Given the description of an element on the screen output the (x, y) to click on. 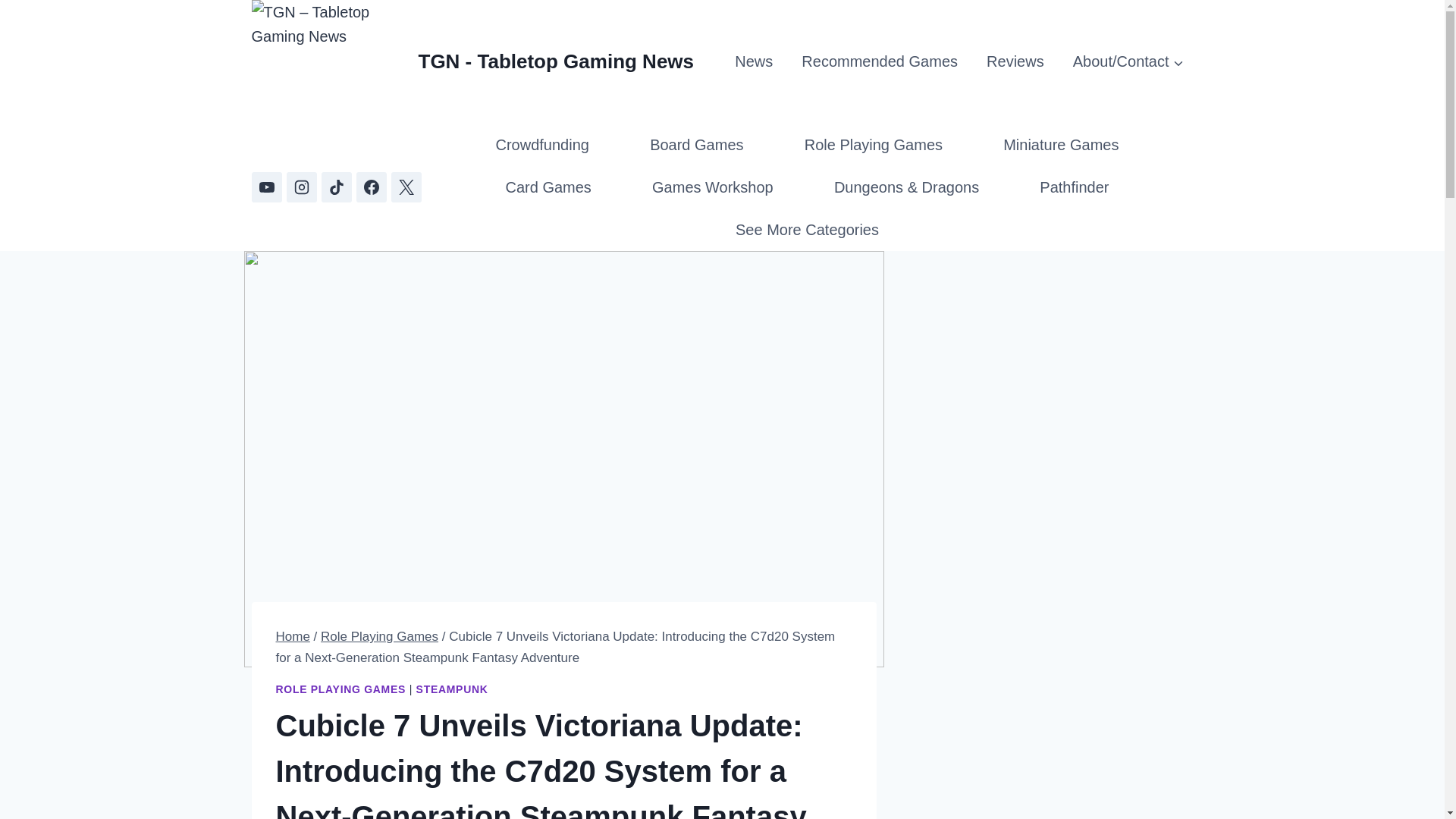
Card Games (547, 187)
Home (293, 636)
Games Workshop (712, 187)
Miniature Games (1060, 144)
Crowdfunding (542, 144)
ROLE PLAYING GAMES (341, 689)
STEAMPUNK (451, 689)
Board Games (697, 144)
Recommended Games (879, 61)
TGN - Tabletop Gaming News (472, 61)
